Given the description of an element on the screen output the (x, y) to click on. 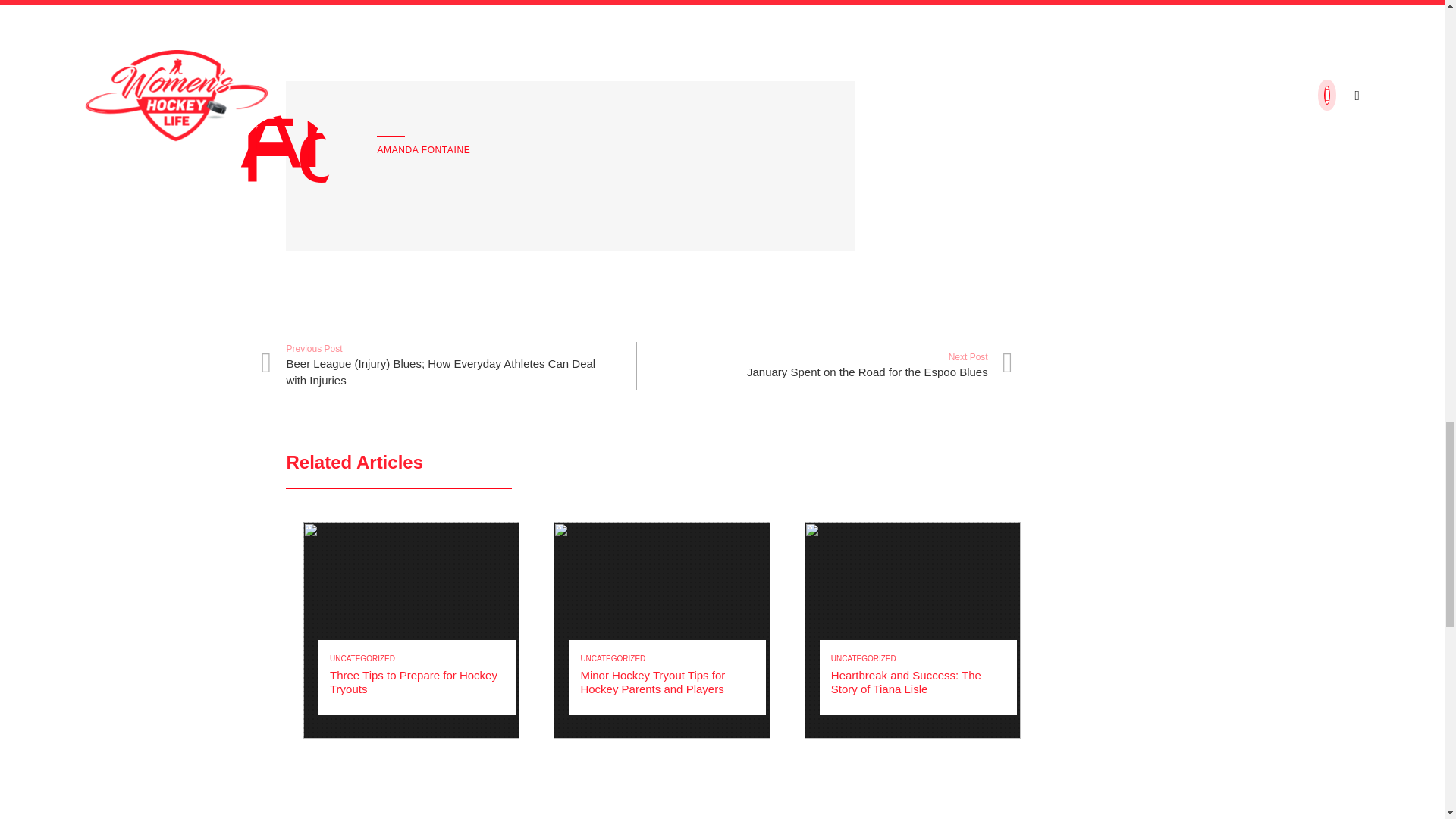
January Spent on the Road for the Espoo Blues (825, 365)
